Given the description of an element on the screen output the (x, y) to click on. 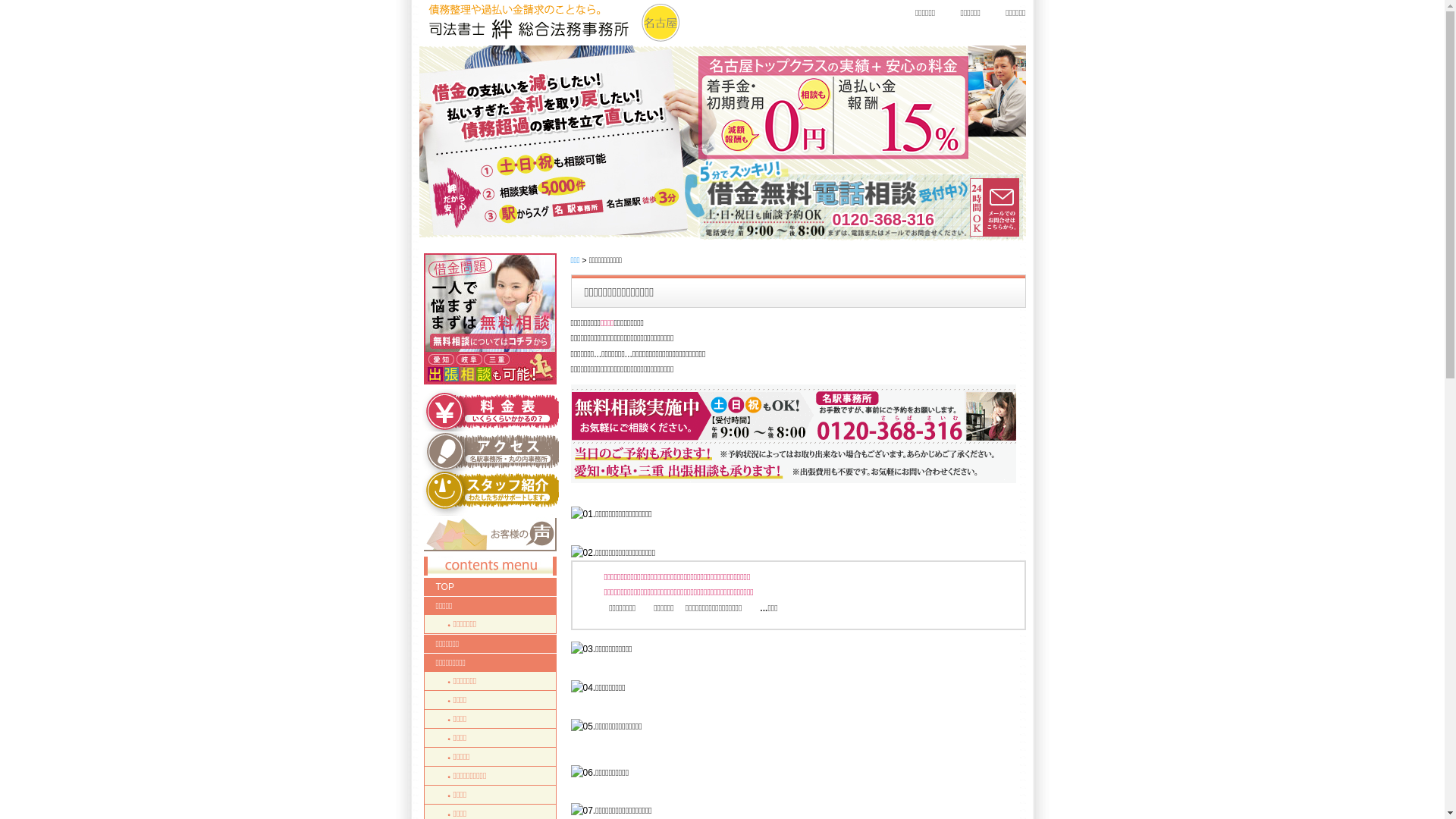
TOP Element type: text (489, 586)
